Given the description of an element on the screen output the (x, y) to click on. 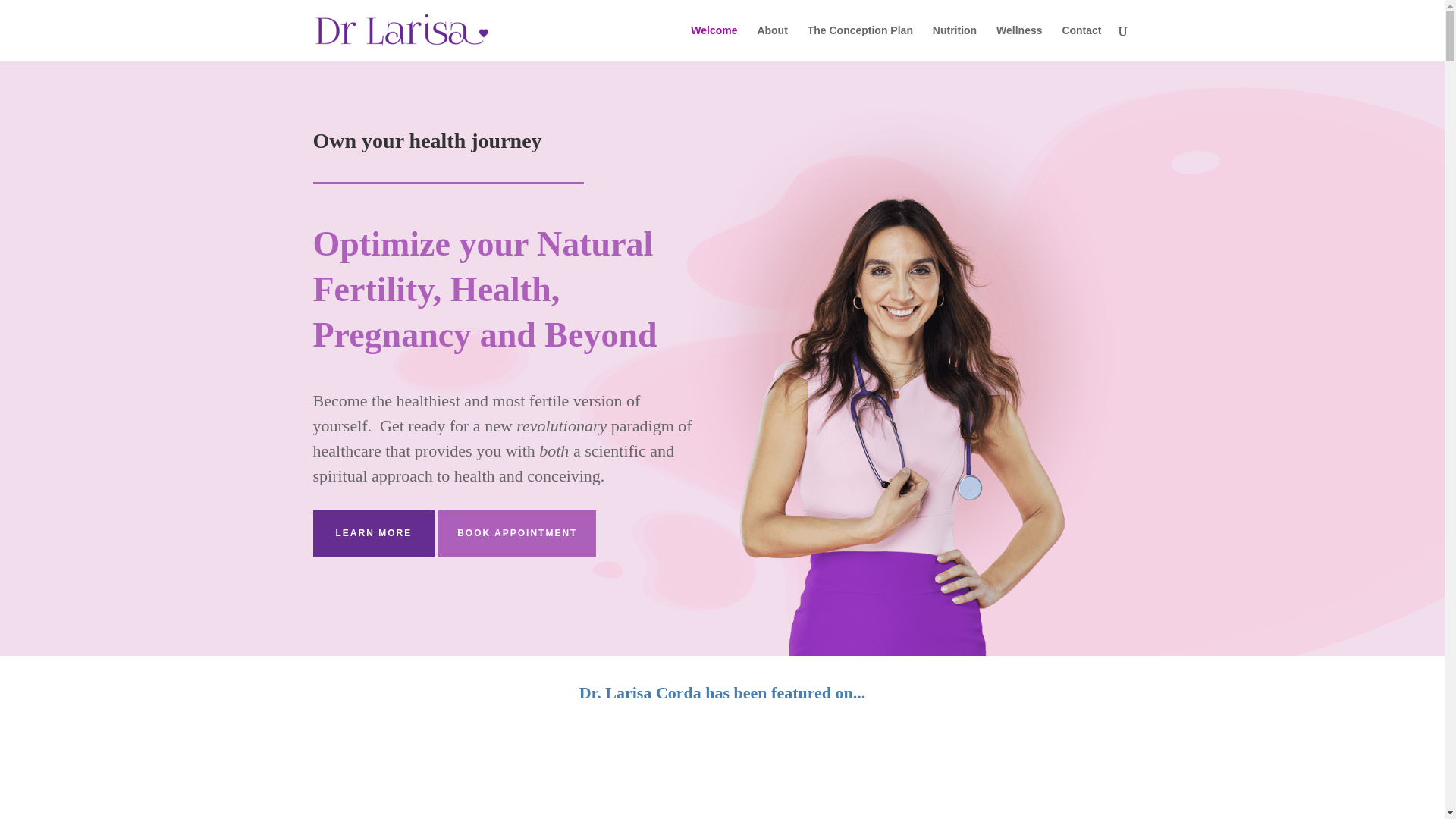
Nutrition (954, 42)
Wellness (1018, 42)
The Conception Plan (860, 42)
Contact (1080, 42)
BOOK APPOINTMENT (516, 533)
LEARN MORE (373, 533)
Welcome (713, 42)
